Given the description of an element on the screen output the (x, y) to click on. 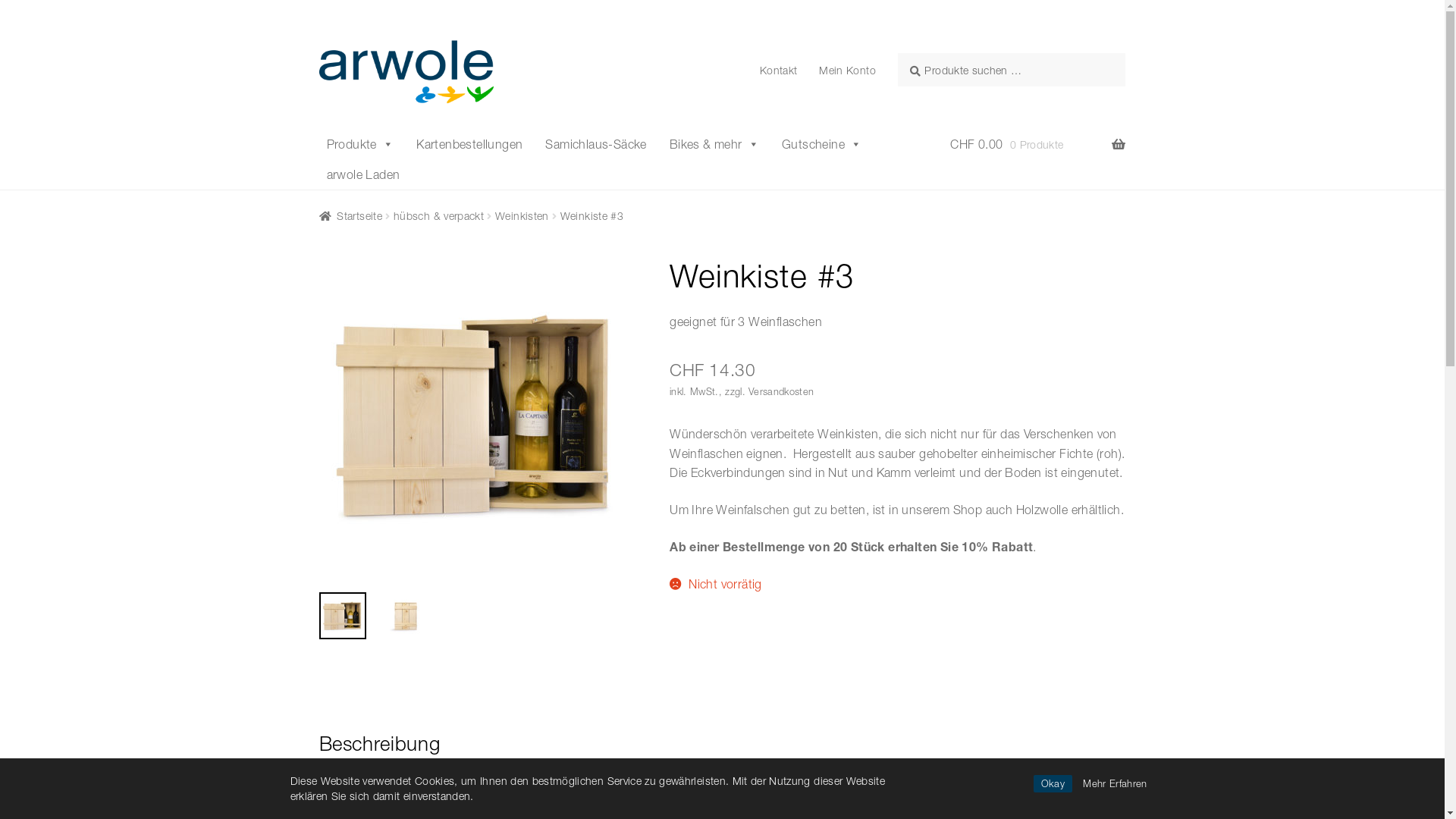
Kartenbestellungen Element type: text (469, 143)
arwole Laden Element type: text (363, 174)
Mein Konto Element type: text (846, 70)
arwole_Weinkiste-3er_offen Element type: hover (476, 414)
Produkte Element type: text (360, 143)
Mehr Erfahren Element type: text (1114, 783)
Okay Element type: text (1052, 783)
Gutscheine Element type: text (821, 143)
Startseite Element type: text (350, 215)
Skip to navigation Element type: text (318, 31)
Kontakt Element type: text (778, 70)
CHF 0.00 0 Produkte Element type: text (1037, 144)
Weinkisten Element type: text (522, 215)
arwole_Weinkiste-3er Element type: hover (792, 414)
Bikes & mehr Element type: text (714, 143)
